Given the description of an element on the screen output the (x, y) to click on. 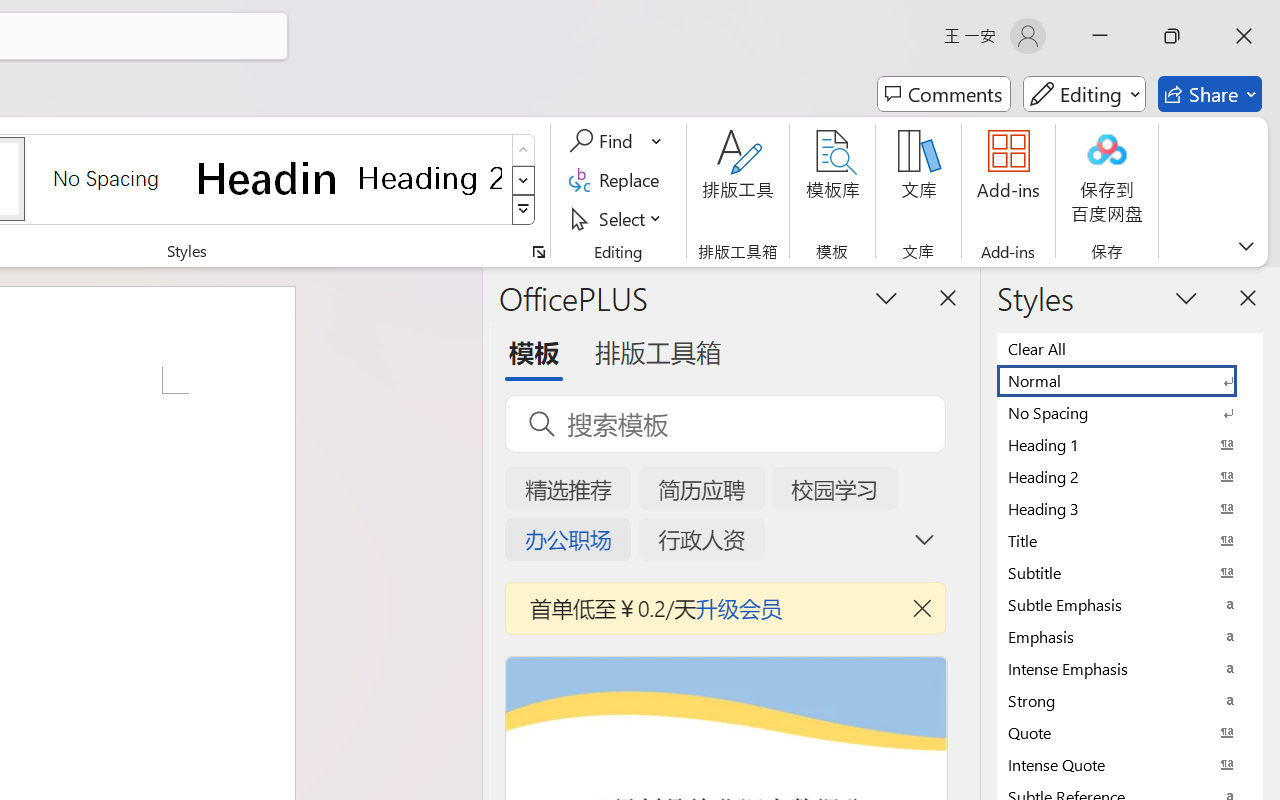
No Spacing (1130, 412)
Ribbon Display Options (1246, 245)
Row Down (523, 180)
Quote (1130, 732)
More Options (657, 141)
Find (616, 141)
Select (618, 218)
Close (1244, 36)
Intense Emphasis (1130, 668)
Heading 3 (1130, 508)
